Given the description of an element on the screen output the (x, y) to click on. 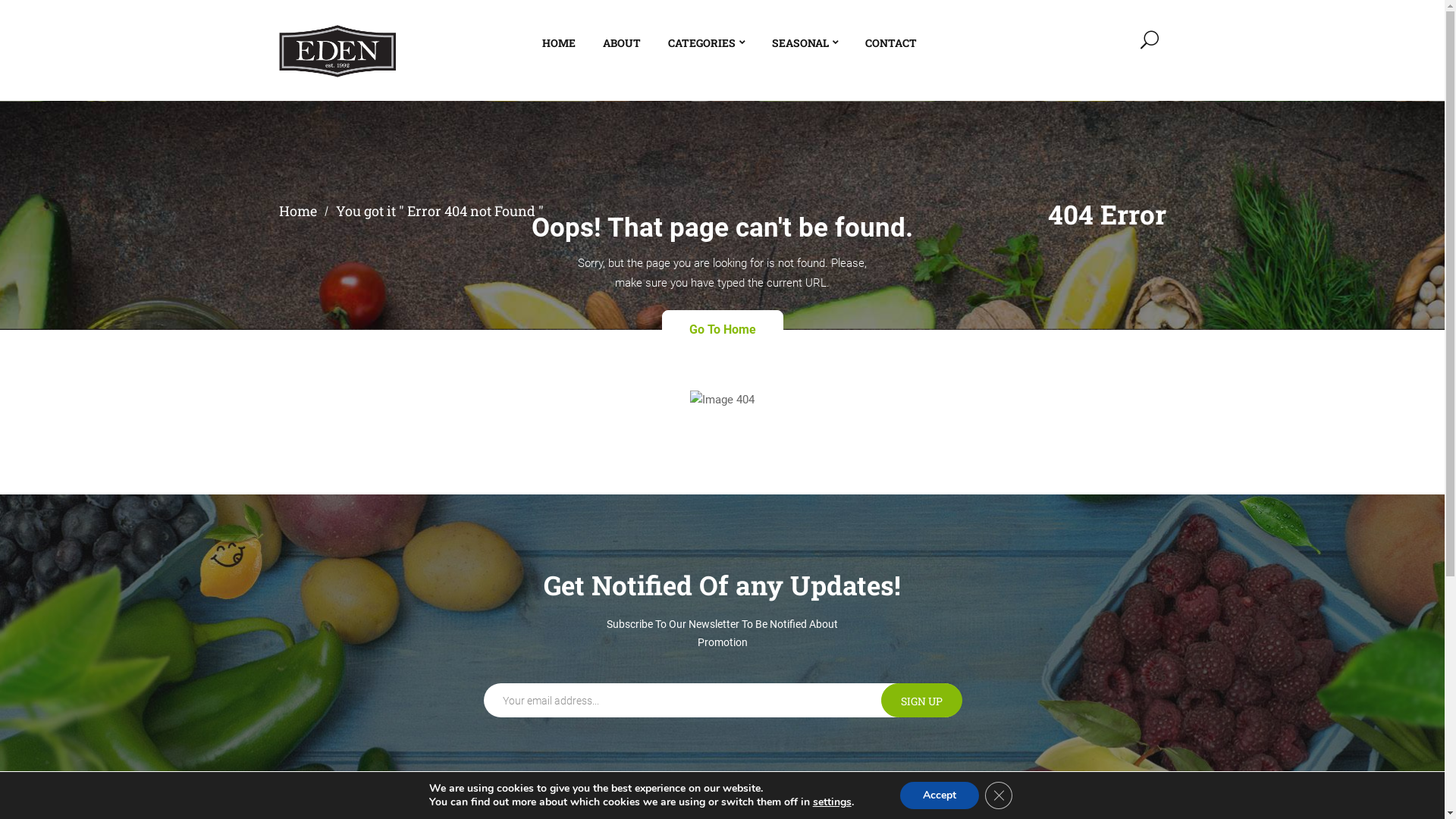
SEASONAL Element type: text (804, 43)
CATEGORIES Element type: text (705, 43)
Sign up Element type: text (921, 699)
Accept Element type: text (939, 795)
ABOUT Element type: text (621, 43)
CONTACT Element type: text (890, 43)
Home Element type: text (297, 210)
Close GDPR Cookie Banner Element type: text (998, 795)
Go To Home Element type: text (721, 329)
HOME Element type: text (557, 43)
